Given the description of an element on the screen output the (x, y) to click on. 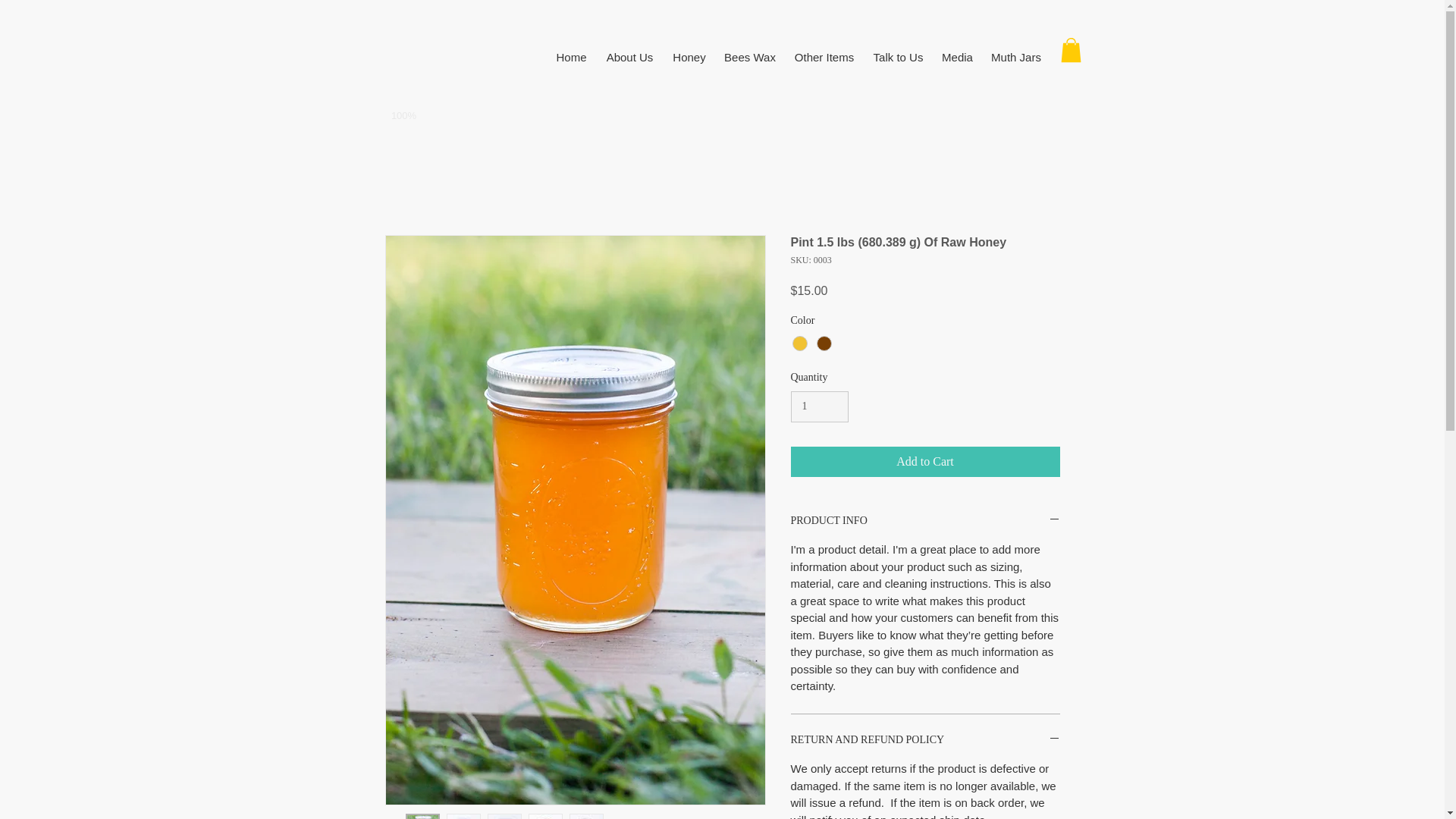
Media (957, 57)
Muth Jars (1015, 57)
Honey (688, 57)
Talk to Us (898, 57)
Bees Wax (750, 57)
RETURN AND REFUND POLICY (924, 740)
Home (570, 57)
Other Items (823, 57)
PRODUCT INFO (924, 521)
Add to Cart (924, 461)
